Given the description of an element on the screen output the (x, y) to click on. 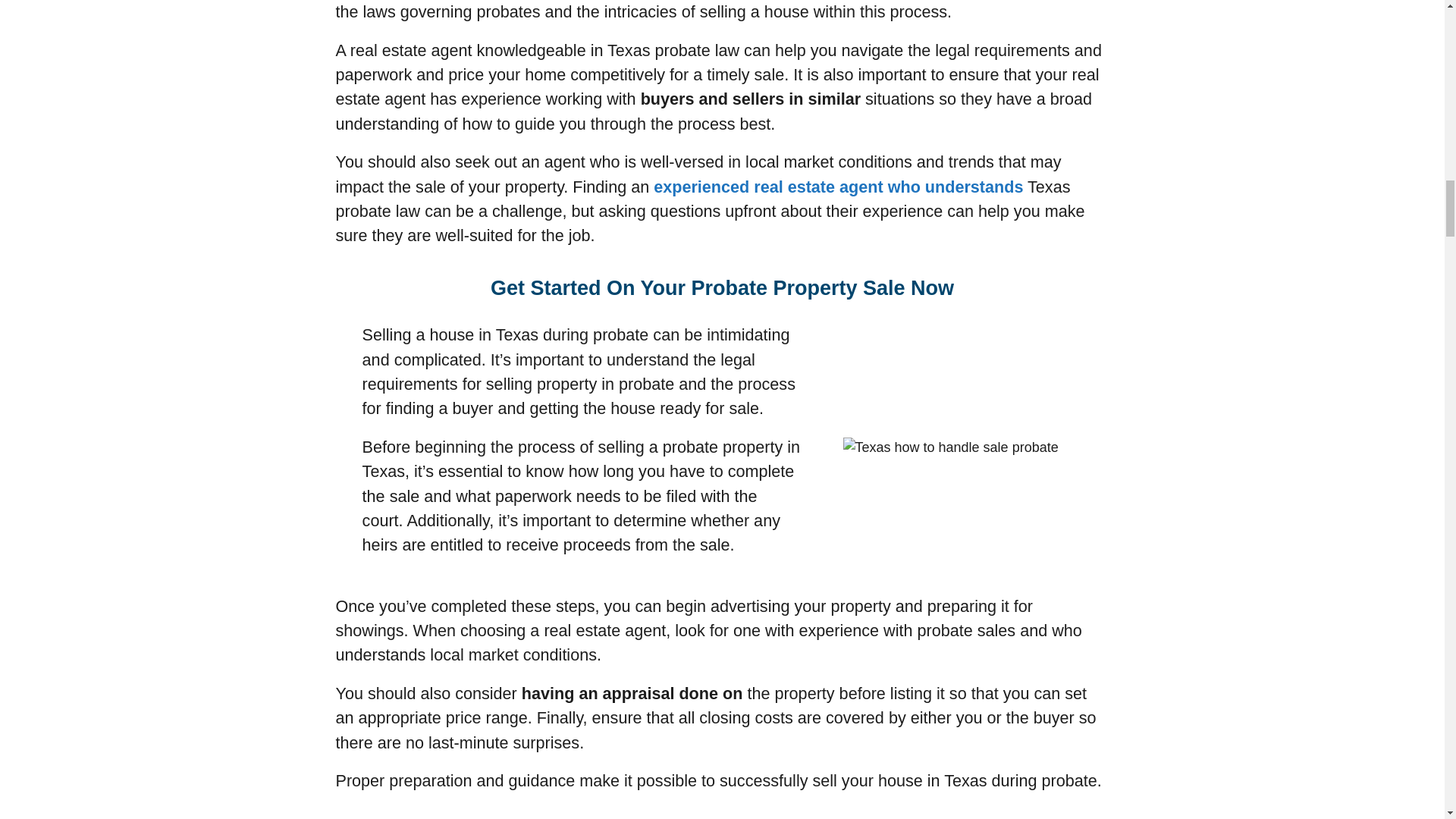
experienced real estate agent who understands (838, 186)
